Given the description of an element on the screen output the (x, y) to click on. 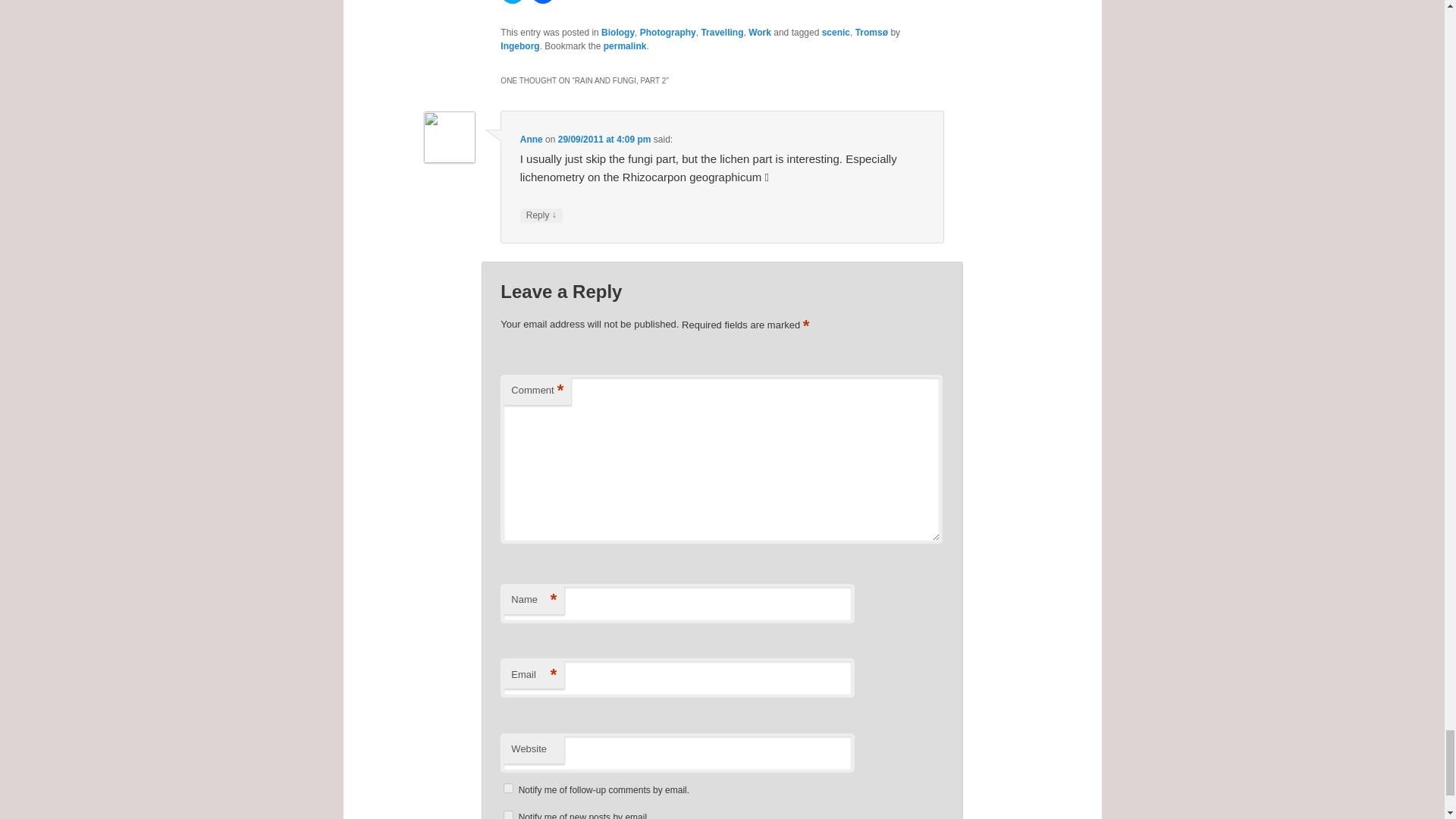
subscribe (508, 787)
Biology (617, 32)
subscribe (508, 814)
Photography (667, 32)
Travelling (721, 32)
Work (759, 32)
scenic (836, 32)
